Given the description of an element on the screen output the (x, y) to click on. 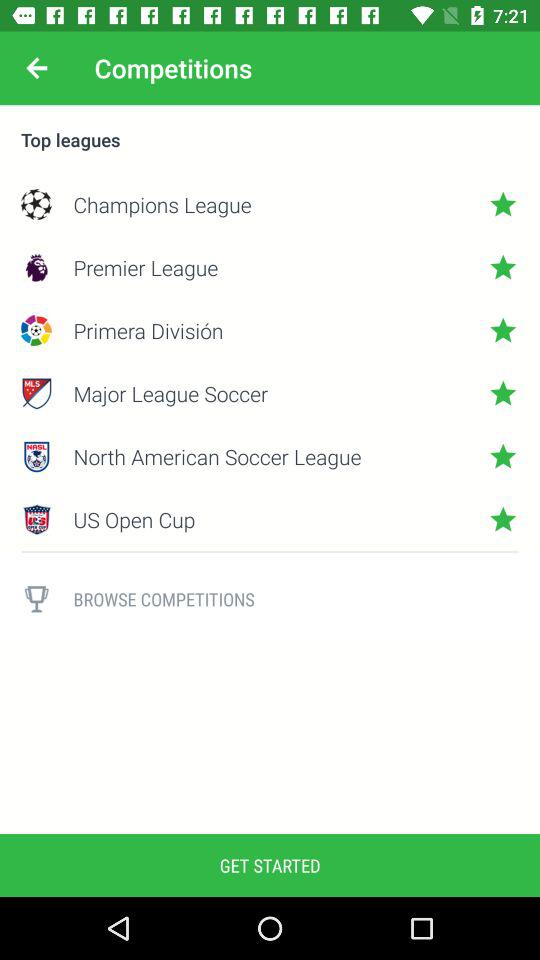
turn on the item below the premier league icon (269, 330)
